Given the description of an element on the screen output the (x, y) to click on. 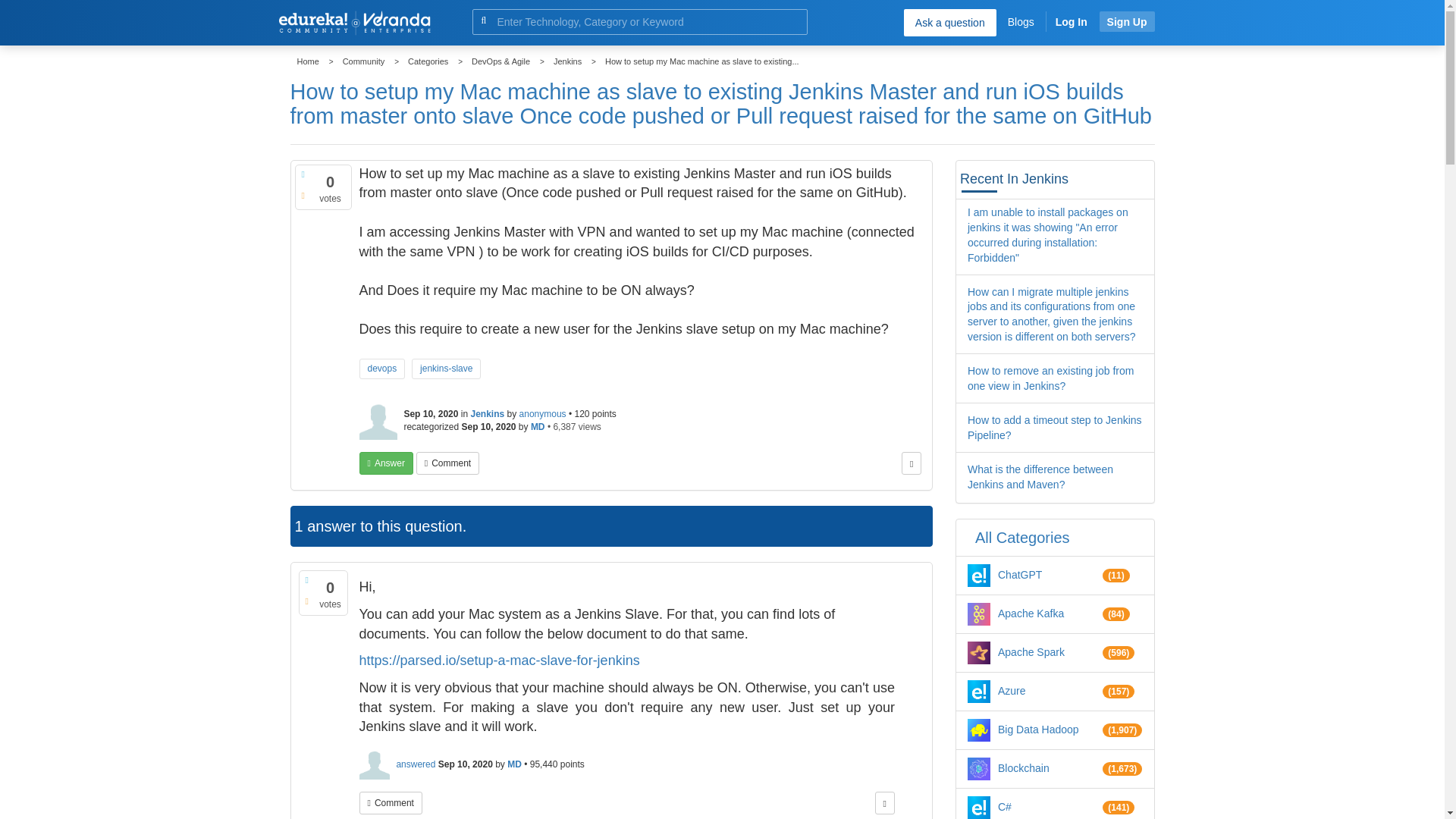
Ask a question (949, 22)
Blogs (1020, 21)
